Given the description of an element on the screen output the (x, y) to click on. 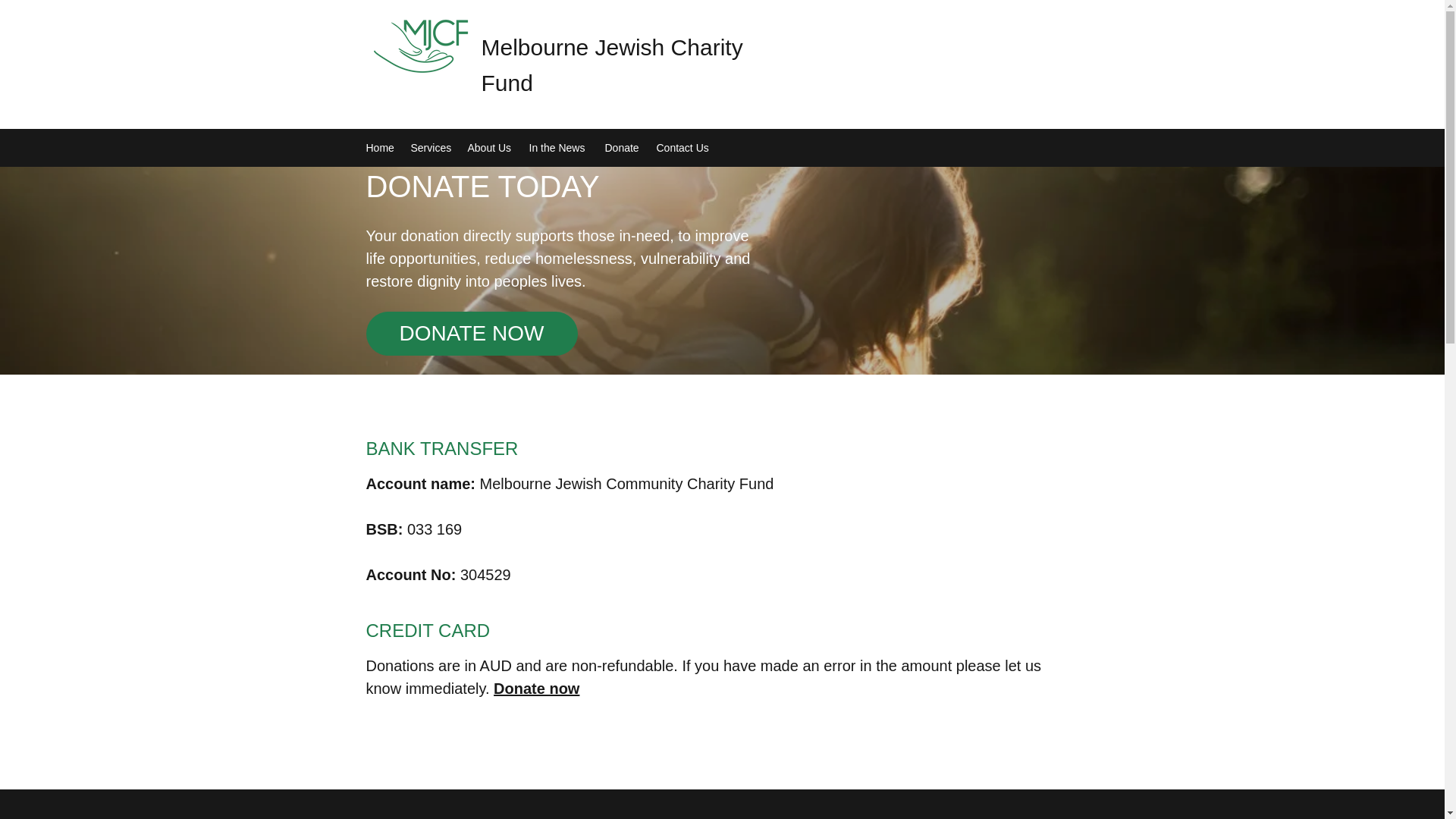
Donate (622, 147)
Donate now (536, 688)
DONATE NOW (470, 333)
In the News (558, 147)
Home (380, 147)
Contact Us (684, 147)
About Us (490, 147)
Services (431, 147)
